Given the description of an element on the screen output the (x, y) to click on. 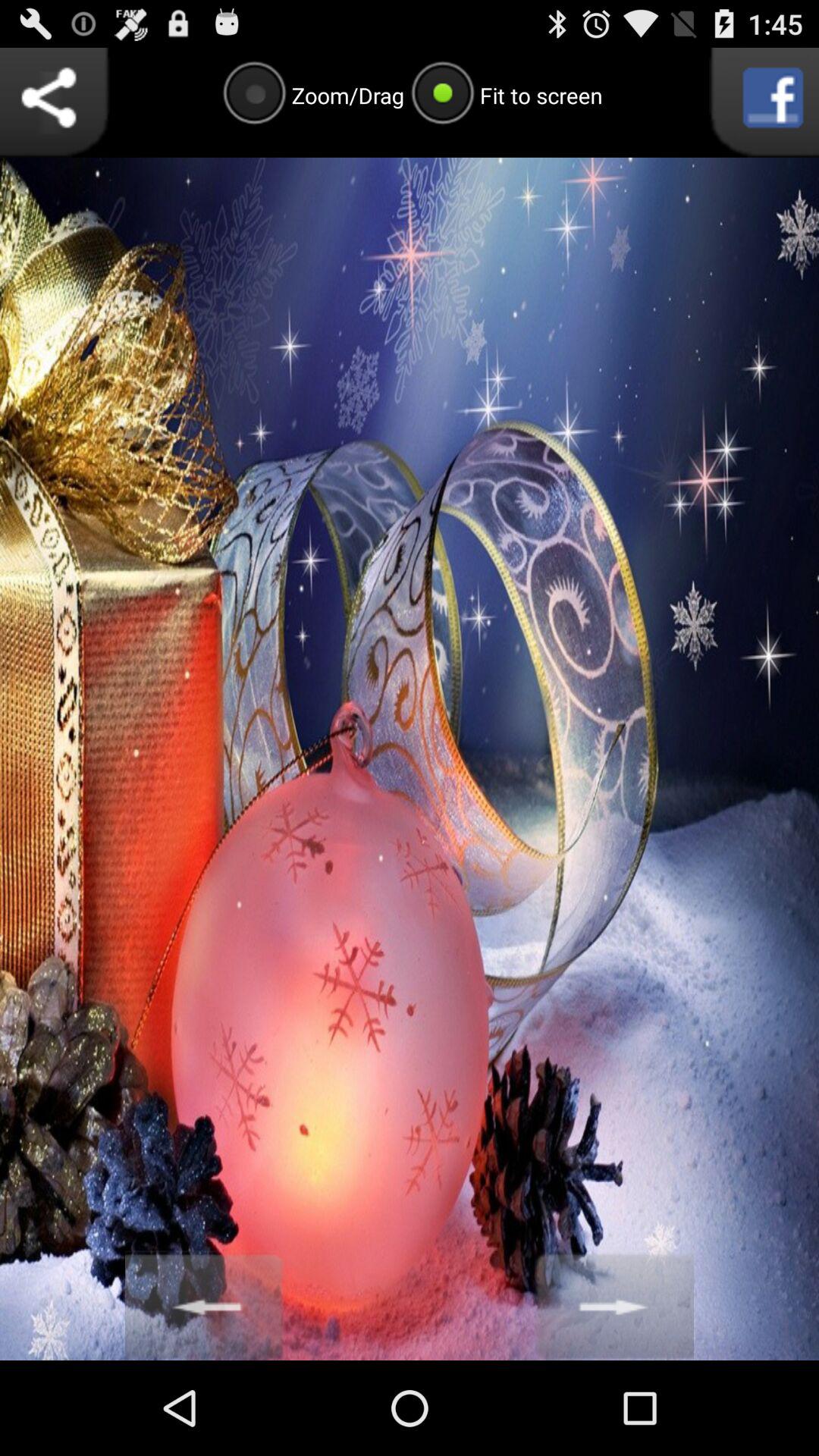
go to previous (204, 1305)
